Given the description of an element on the screen output the (x, y) to click on. 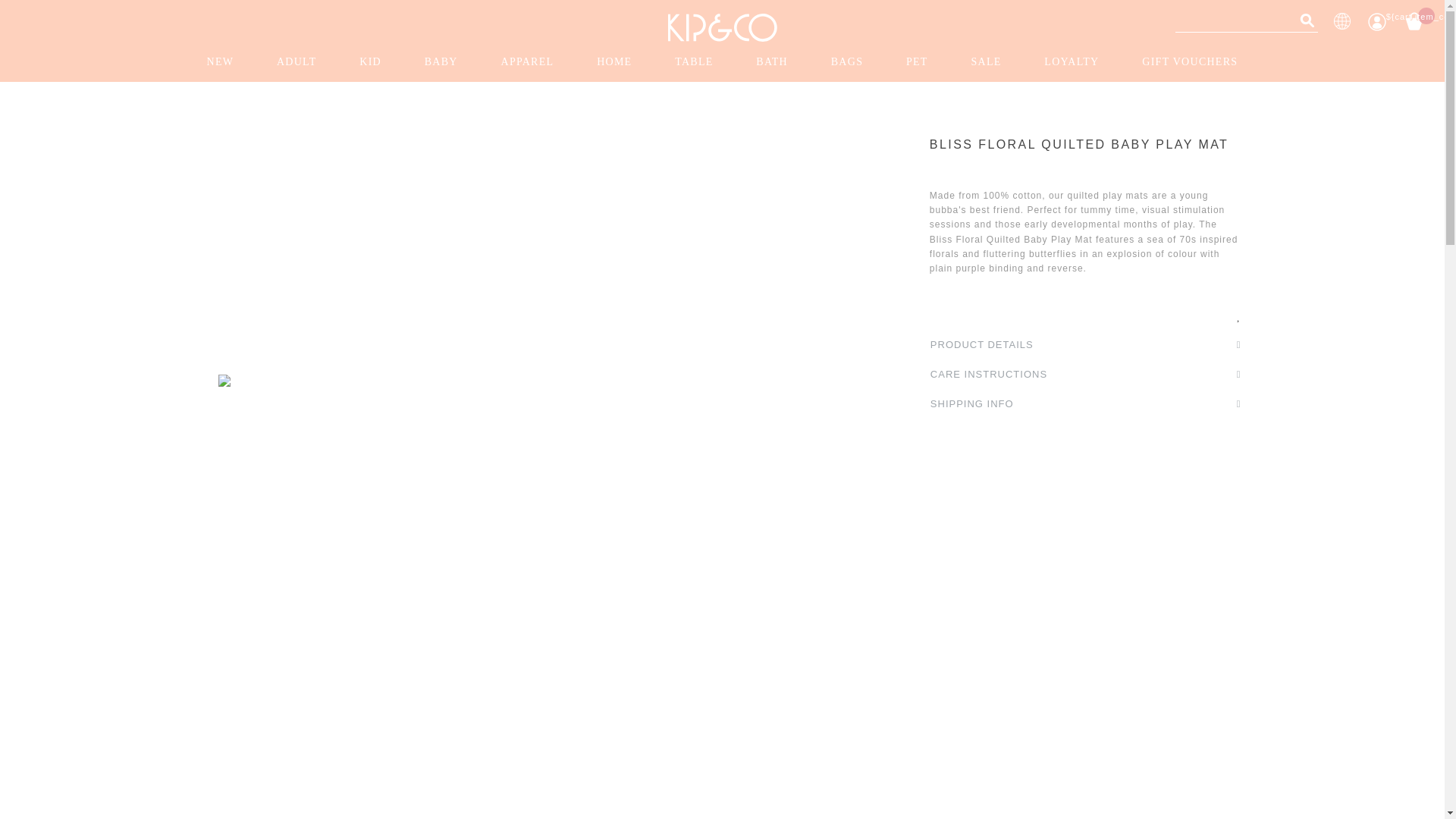
APPAREL (527, 61)
BAGS (846, 61)
SALE (985, 61)
HOME (613, 61)
BABY (440, 61)
ADULT (296, 61)
BATH (772, 61)
TABLE (693, 61)
LOYALTY (1071, 61)
